Given the description of an element on the screen output the (x, y) to click on. 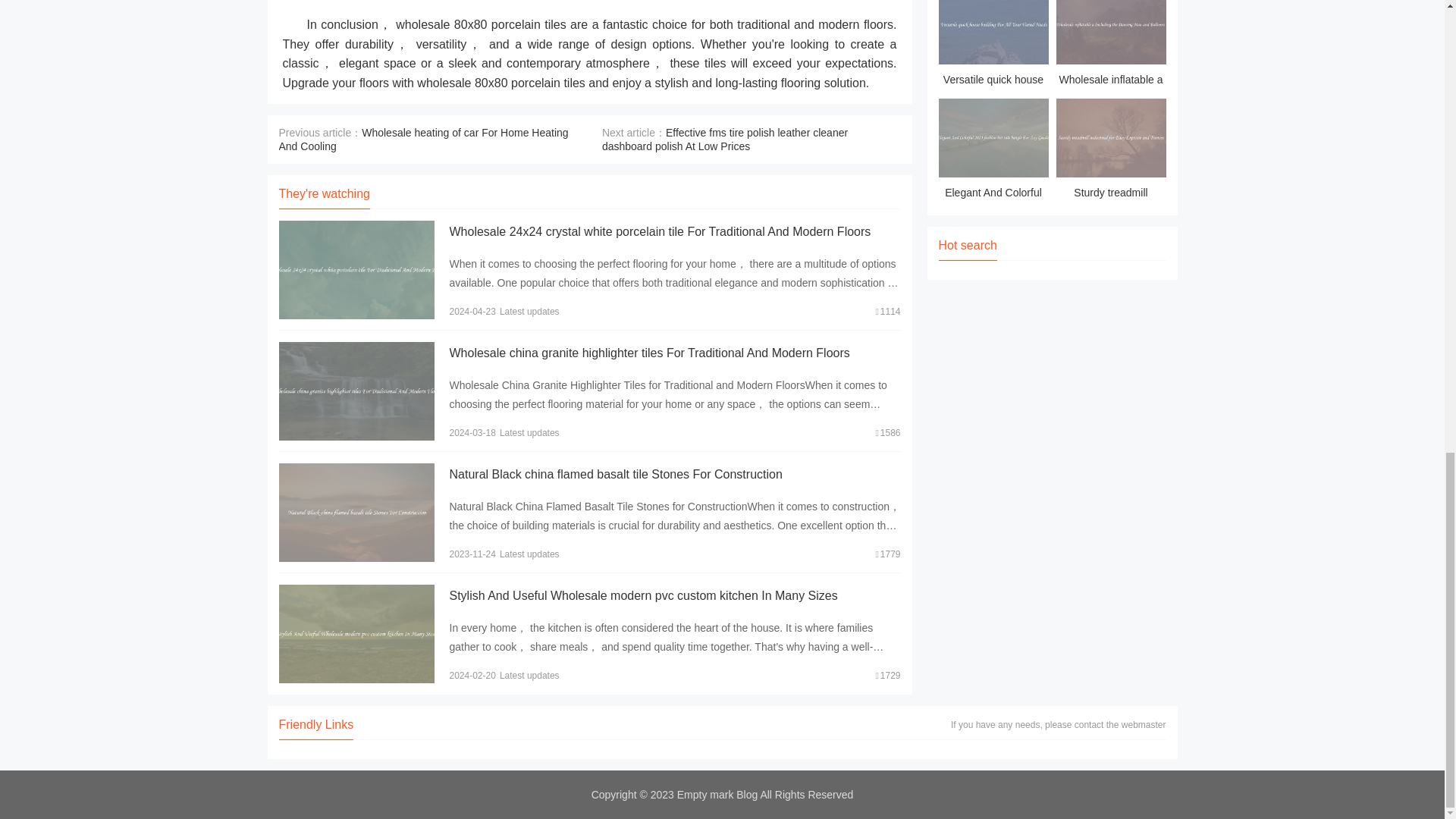
Sturdy treadmill industrial for Easy Exercise and Fitness (1110, 150)
Wholesale heating of car For Home Heating And Cooling (424, 139)
Versatile quick house building For All Your Varied Needs (993, 45)
